Given the description of an element on the screen output the (x, y) to click on. 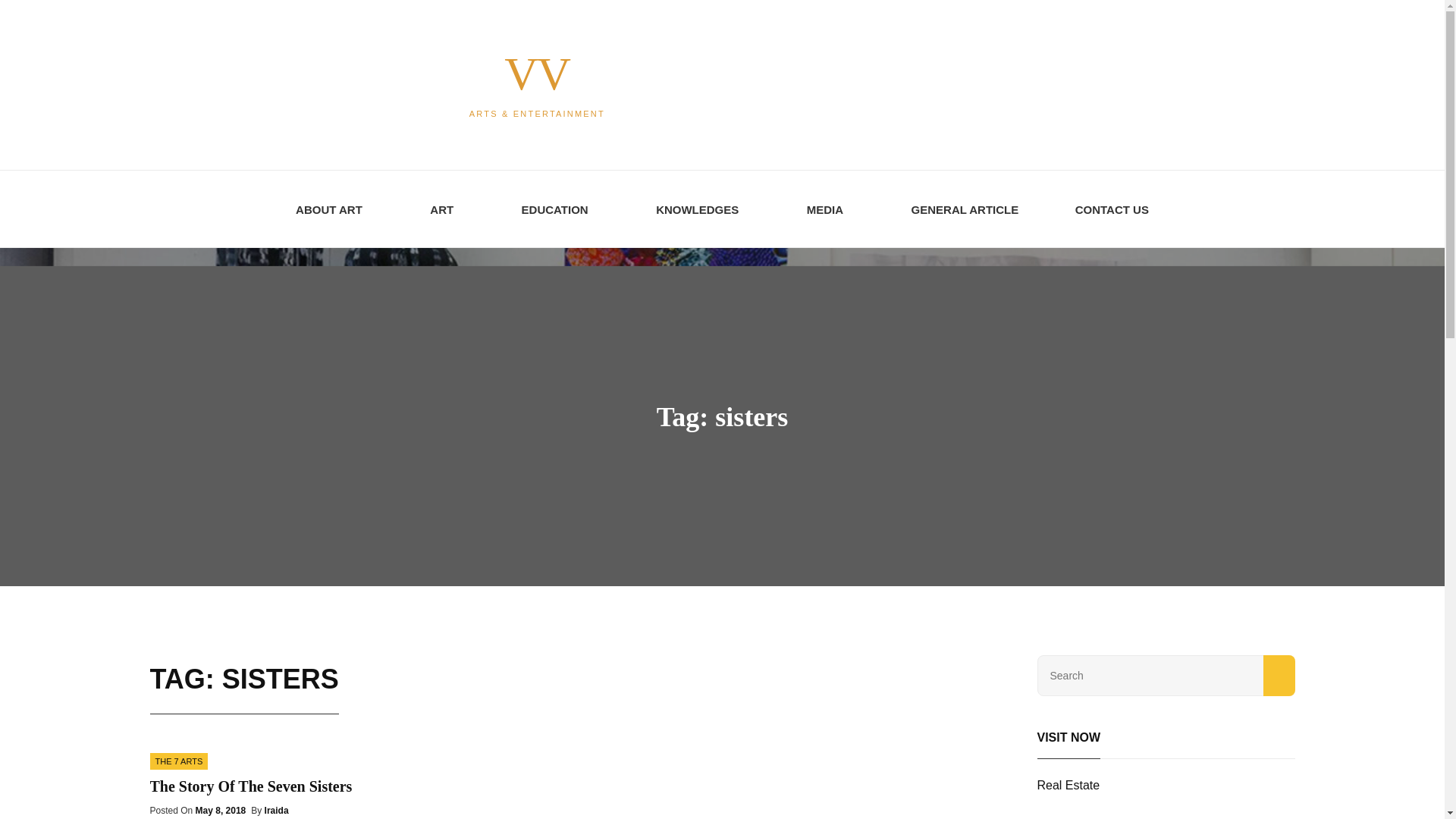
KNOWLEDGES (702, 208)
May 8, 2018 (220, 810)
The Story Of The Seven Sisters (250, 786)
Iraida (276, 810)
EDUCATION (560, 208)
GENERAL ARTICLE (965, 208)
ABOUT ART (334, 208)
VV (536, 73)
CONTACT US (1111, 208)
THE 7 ARTS (178, 761)
